Given the description of an element on the screen output the (x, y) to click on. 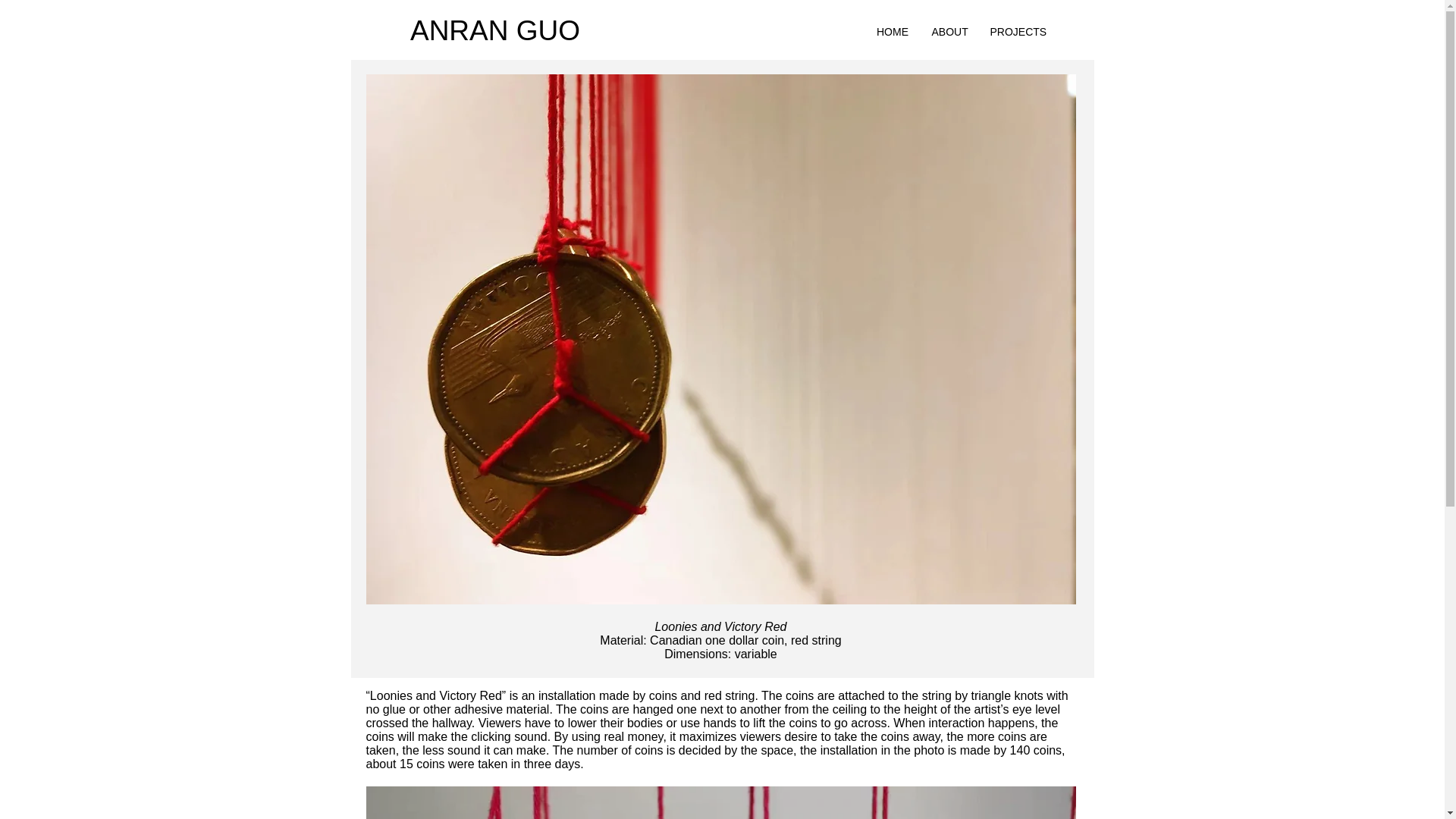
HOME (892, 31)
PROJECTS (1014, 31)
ABOUT (949, 31)
